Given the description of an element on the screen output the (x, y) to click on. 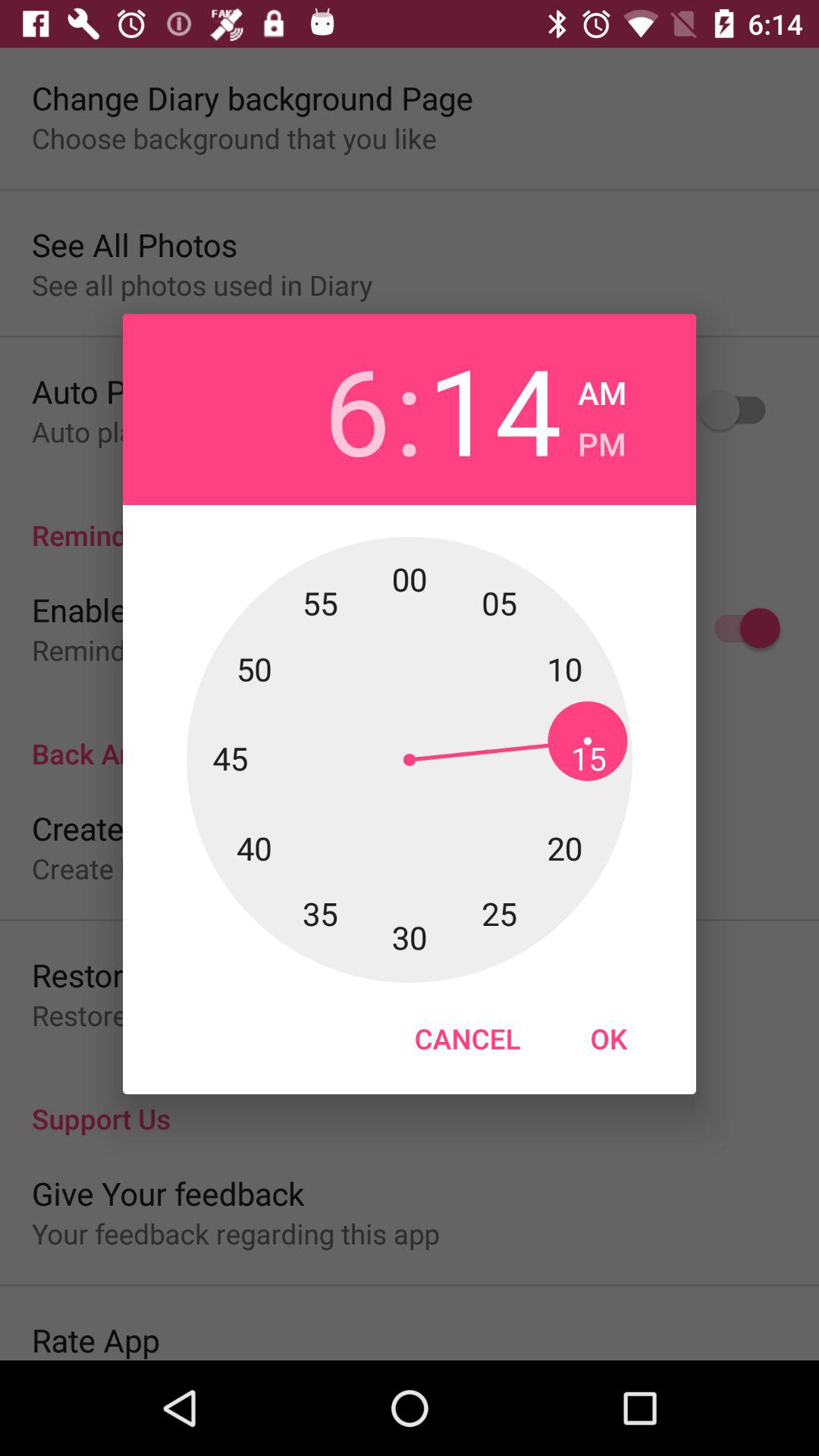
tap the icon to the right of the 14 app (601, 439)
